Given the description of an element on the screen output the (x, y) to click on. 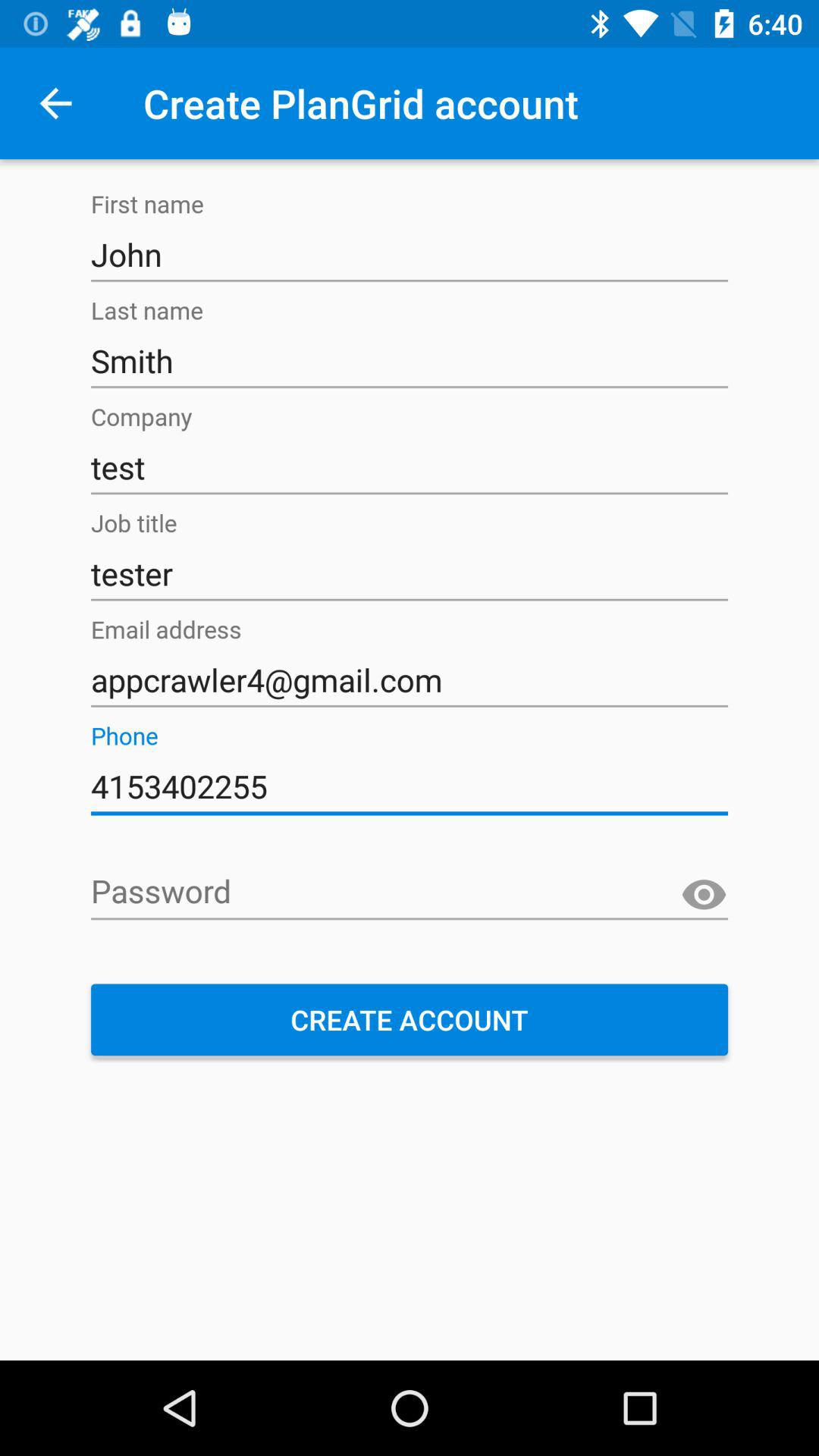
unmask password (703, 895)
